Given the description of an element on the screen output the (x, y) to click on. 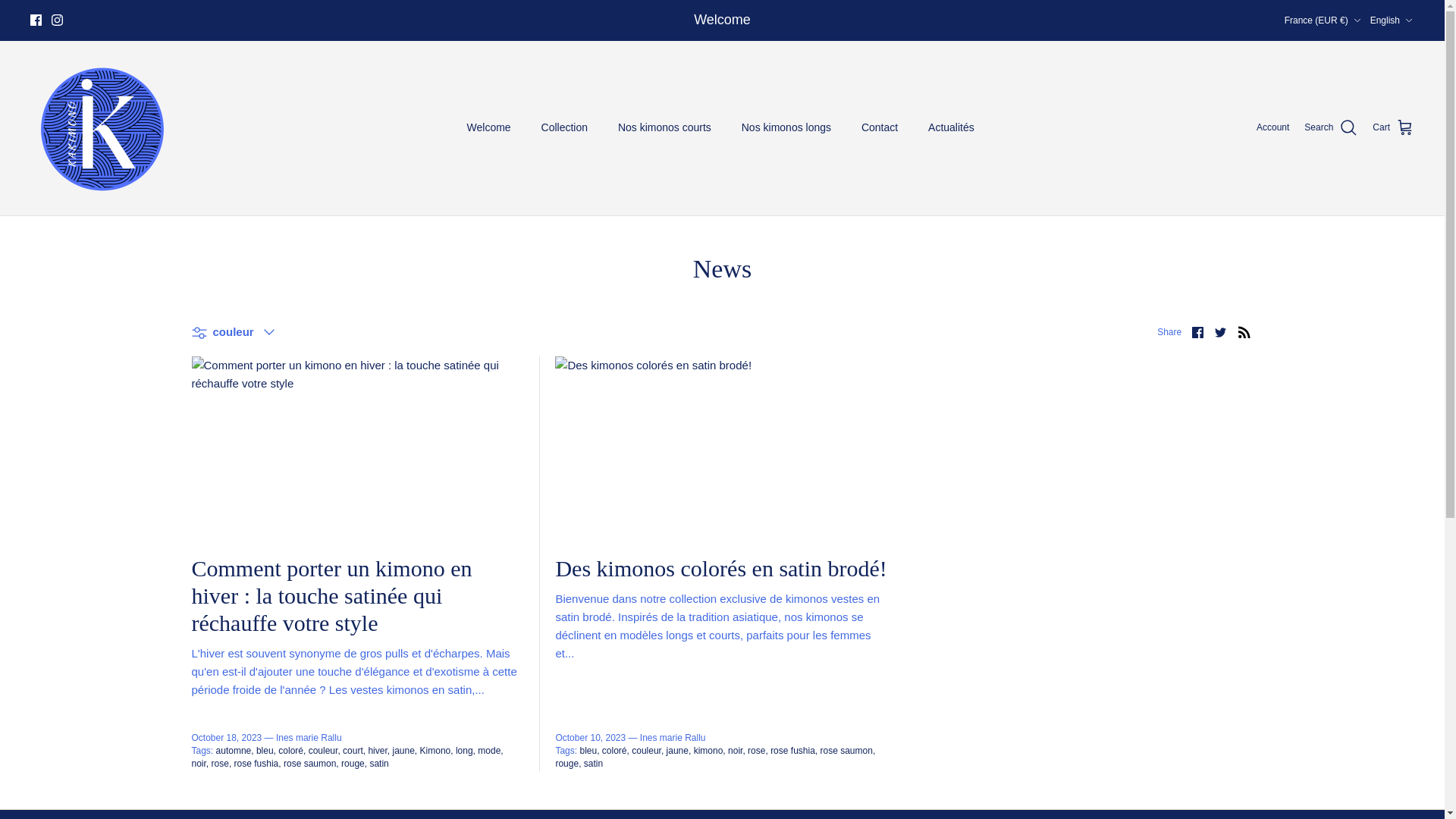
Show articles tagged court (353, 750)
RSS (1243, 331)
Show articles tagged couleur (324, 750)
Down (1357, 20)
Show articles tagged rose saumon (311, 763)
Instagram (56, 19)
Show articles tagged satin (378, 763)
Show articles tagged Kimono (436, 750)
Show articles tagged jaune (403, 750)
Facebook (36, 19)
News RSS (1243, 331)
Show articles tagged long (465, 750)
Show articles tagged automne (234, 750)
Show articles tagged rose (221, 763)
Instagram (56, 19)
